Given the description of an element on the screen output the (x, y) to click on. 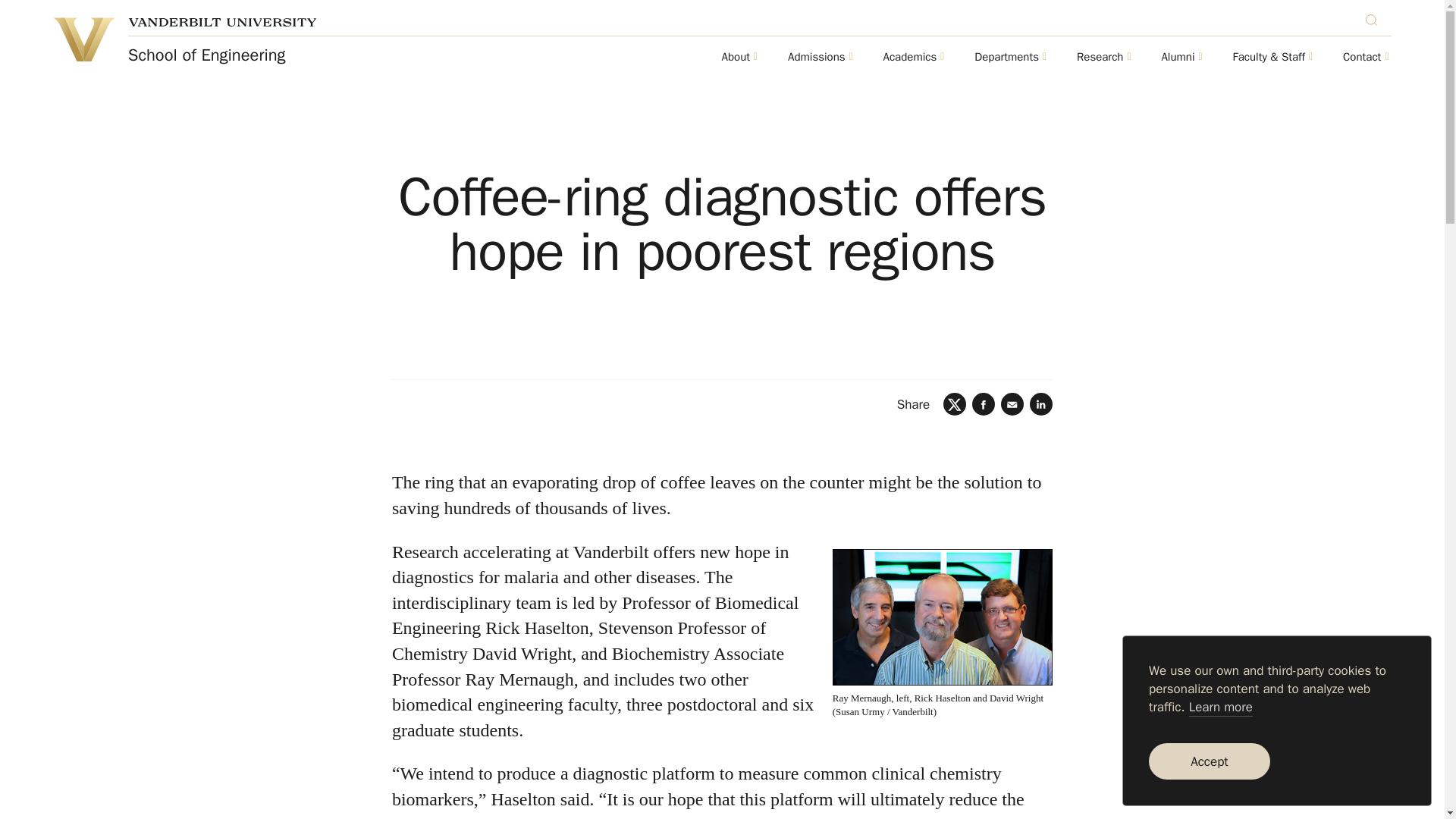
Departments (1006, 57)
School of Engineering (206, 55)
Learn more (1220, 707)
About (735, 57)
Alumni (1176, 57)
Vanderbilt University (83, 39)
Mernaugh-Haselton-Wright-coffee-ring (942, 616)
Admissions (816, 57)
Vanderbilt University (222, 21)
Academics (910, 57)
Accept (1208, 760)
Research (1099, 57)
